Given the description of an element on the screen output the (x, y) to click on. 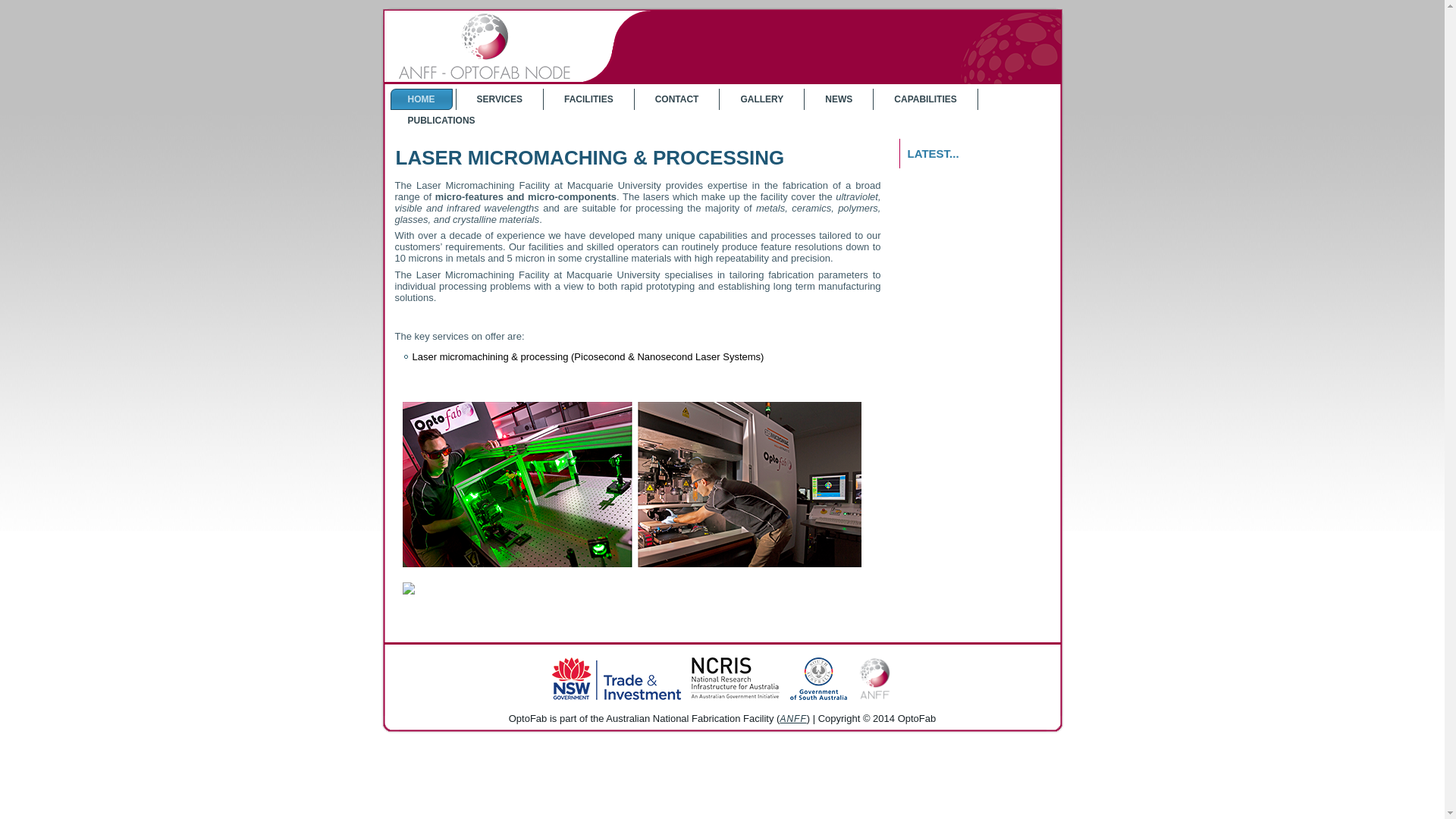
ANFF Element type: text (792, 718)
PUBLICATIONS Element type: text (440, 120)
CAPABILITIES Element type: text (924, 98)
NEWS Element type: text (838, 98)
GALLERY Element type: text (761, 98)
HOME Element type: text (420, 98)
CONTACT Element type: text (676, 98)
SERVICES Element type: text (499, 98)
FACILITIES Element type: text (588, 98)
